Given the description of an element on the screen output the (x, y) to click on. 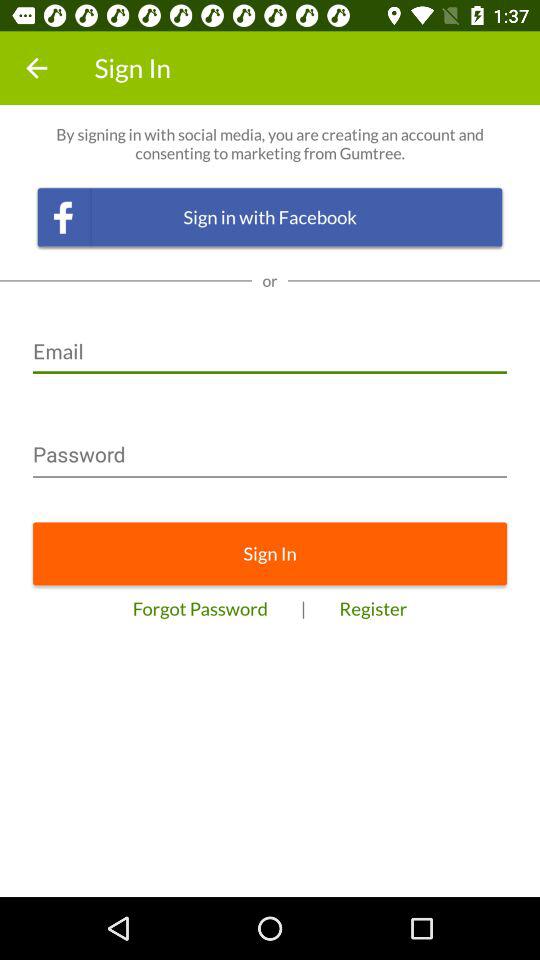
launch the icon below the or icon (270, 344)
